Given the description of an element on the screen output the (x, y) to click on. 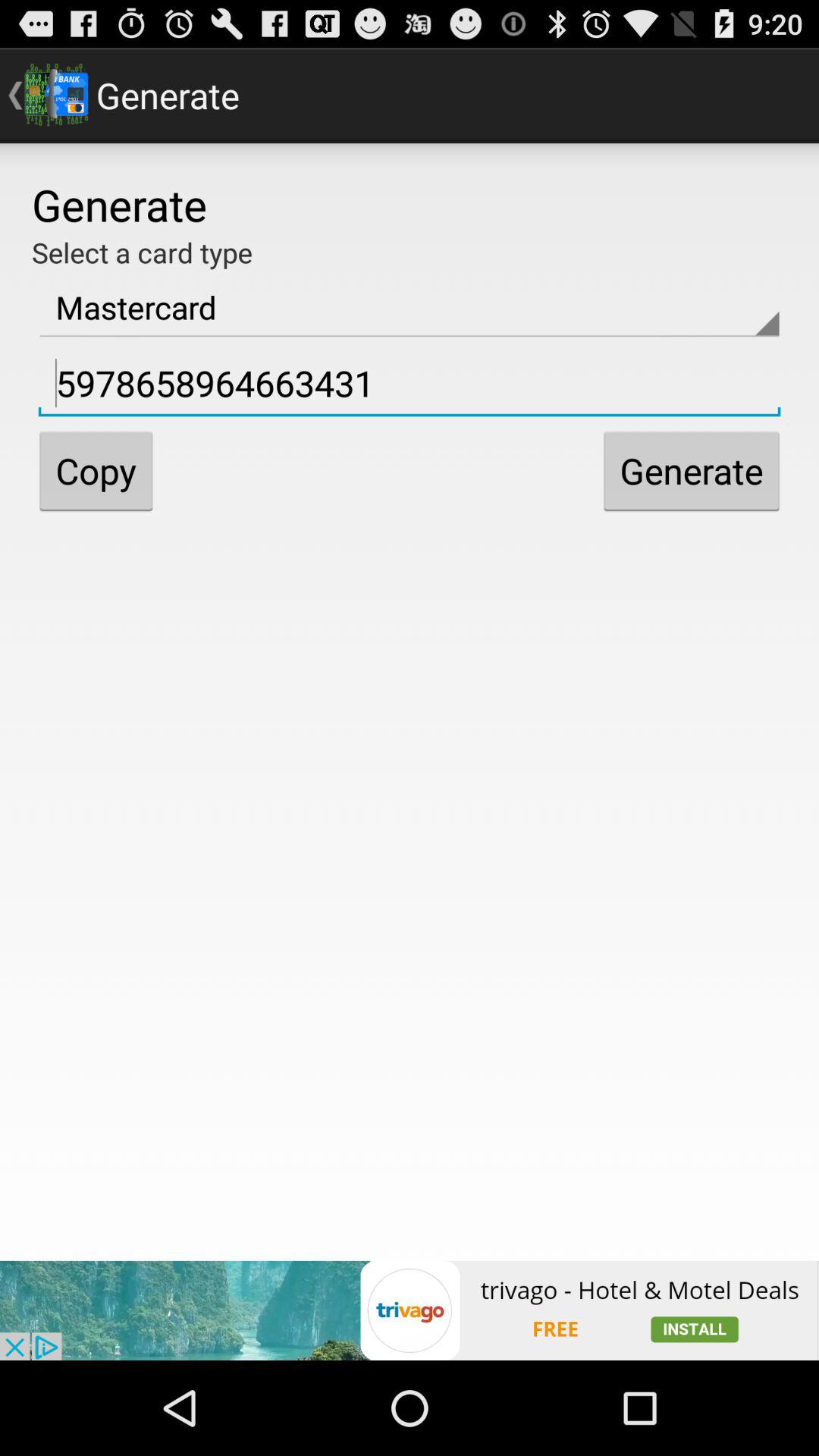
advertisement banner (409, 1310)
